Given the description of an element on the screen output the (x, y) to click on. 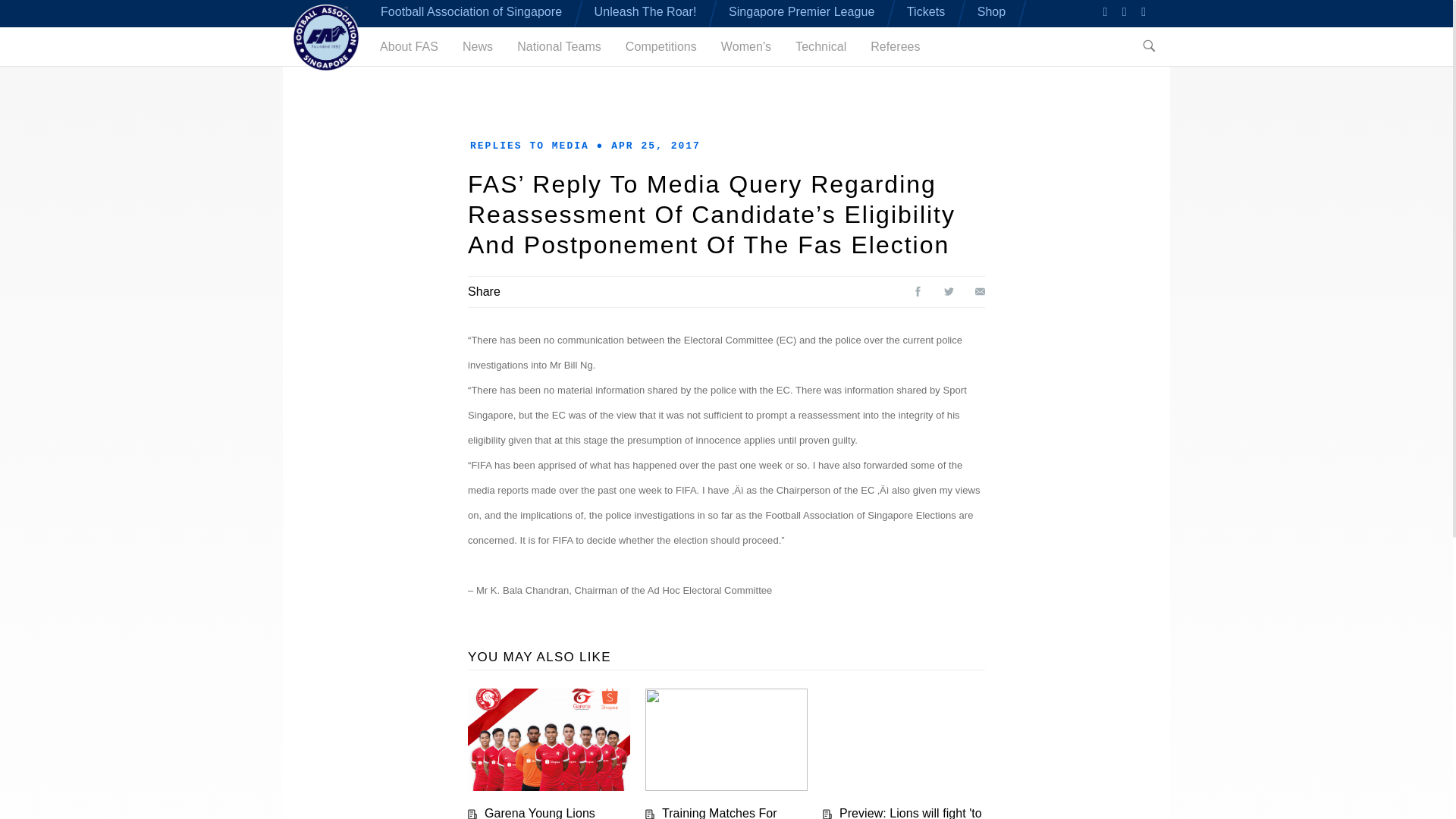
Football Association of Singapore (471, 11)
Shop (991, 11)
About FAS (409, 46)
Singapore Premier League (802, 11)
Tickets (925, 11)
Unleash The Roar! (645, 11)
National Teams (558, 46)
